Given the description of an element on the screen output the (x, y) to click on. 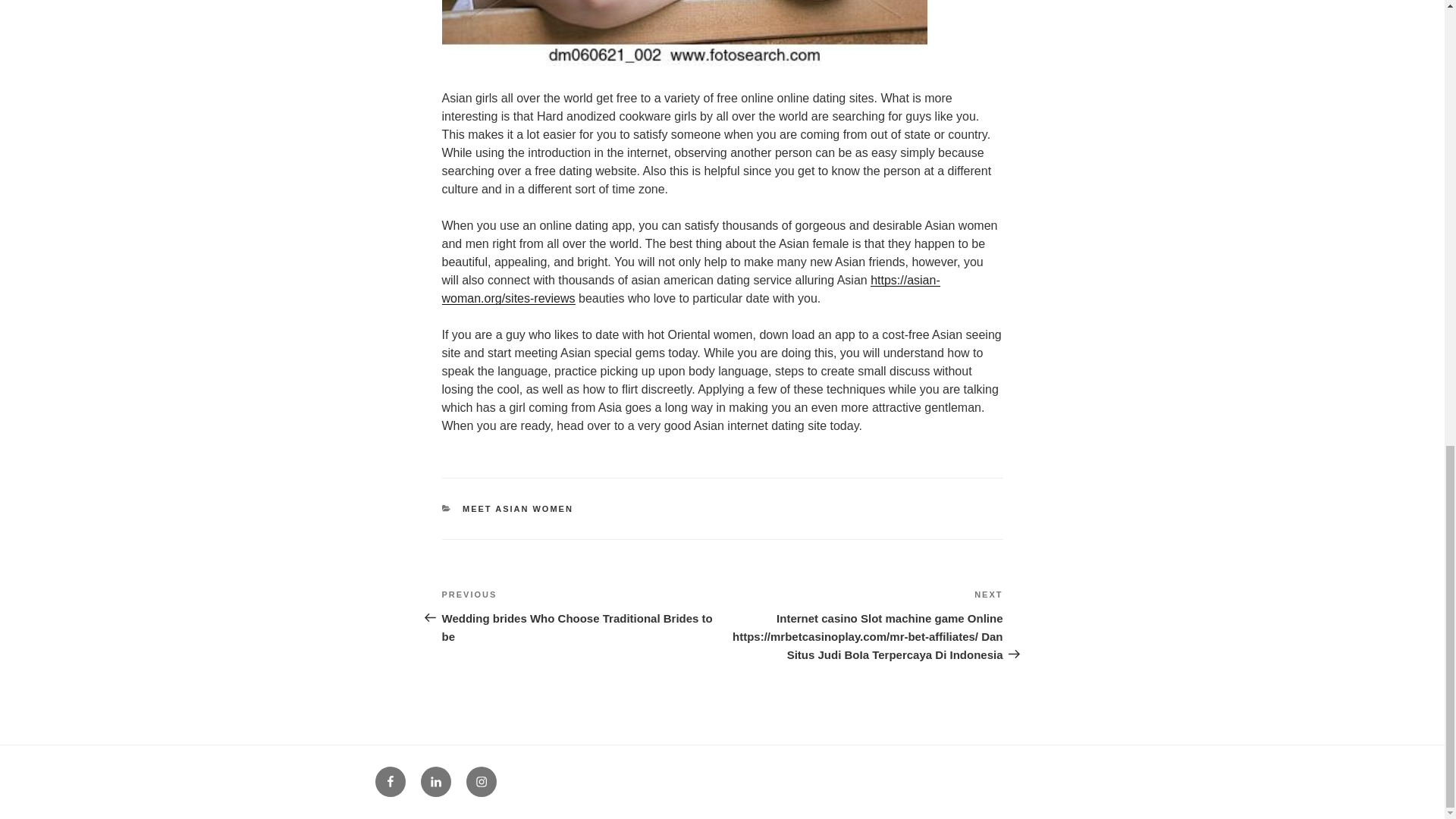
MEET ASIAN WOMEN (518, 508)
Instagram (480, 781)
Facebook (389, 781)
Linked in (435, 781)
